Given the description of an element on the screen output the (x, y) to click on. 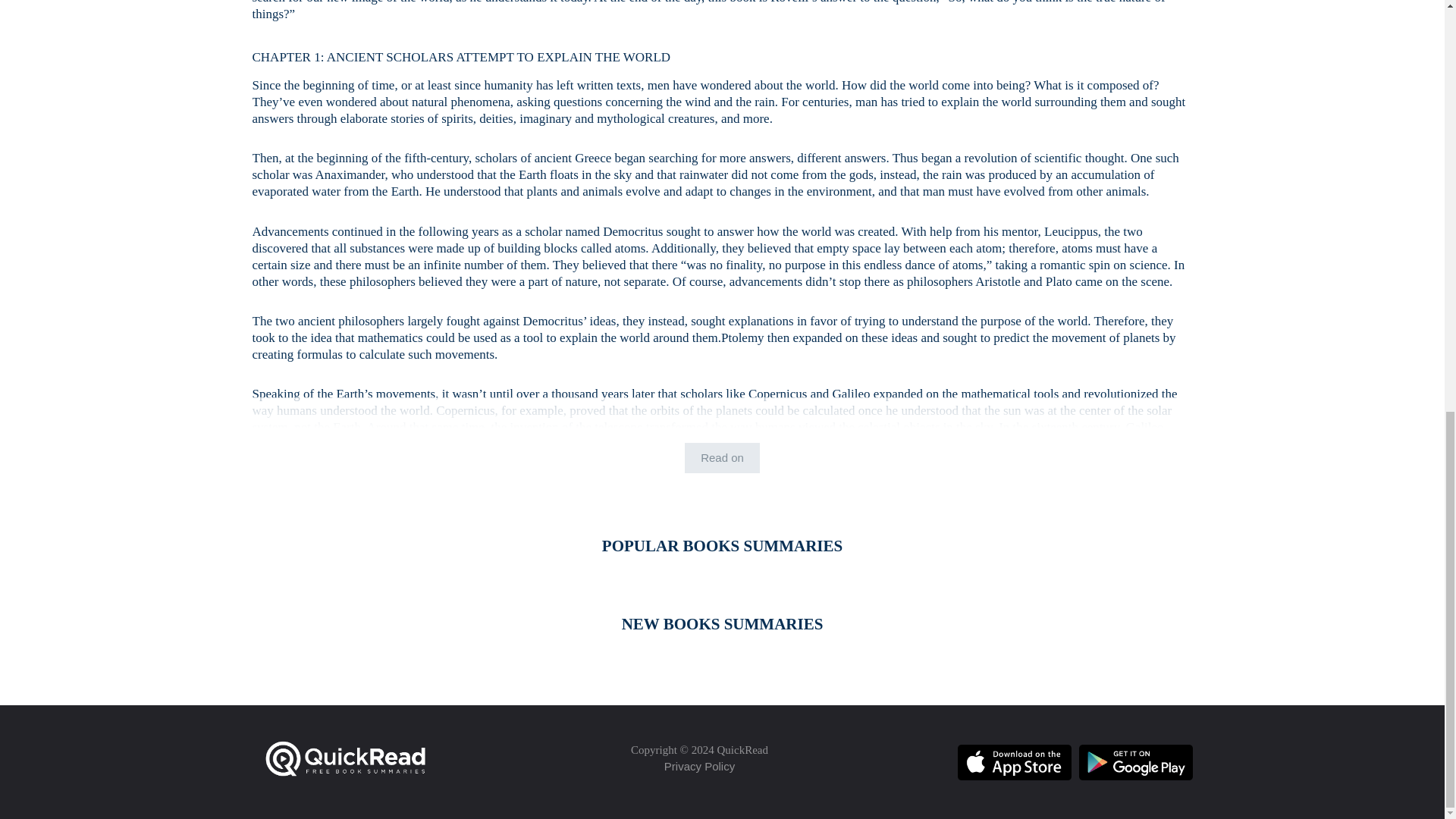
Read on (722, 458)
Privacy Policy (699, 766)
